Given the description of an element on the screen output the (x, y) to click on. 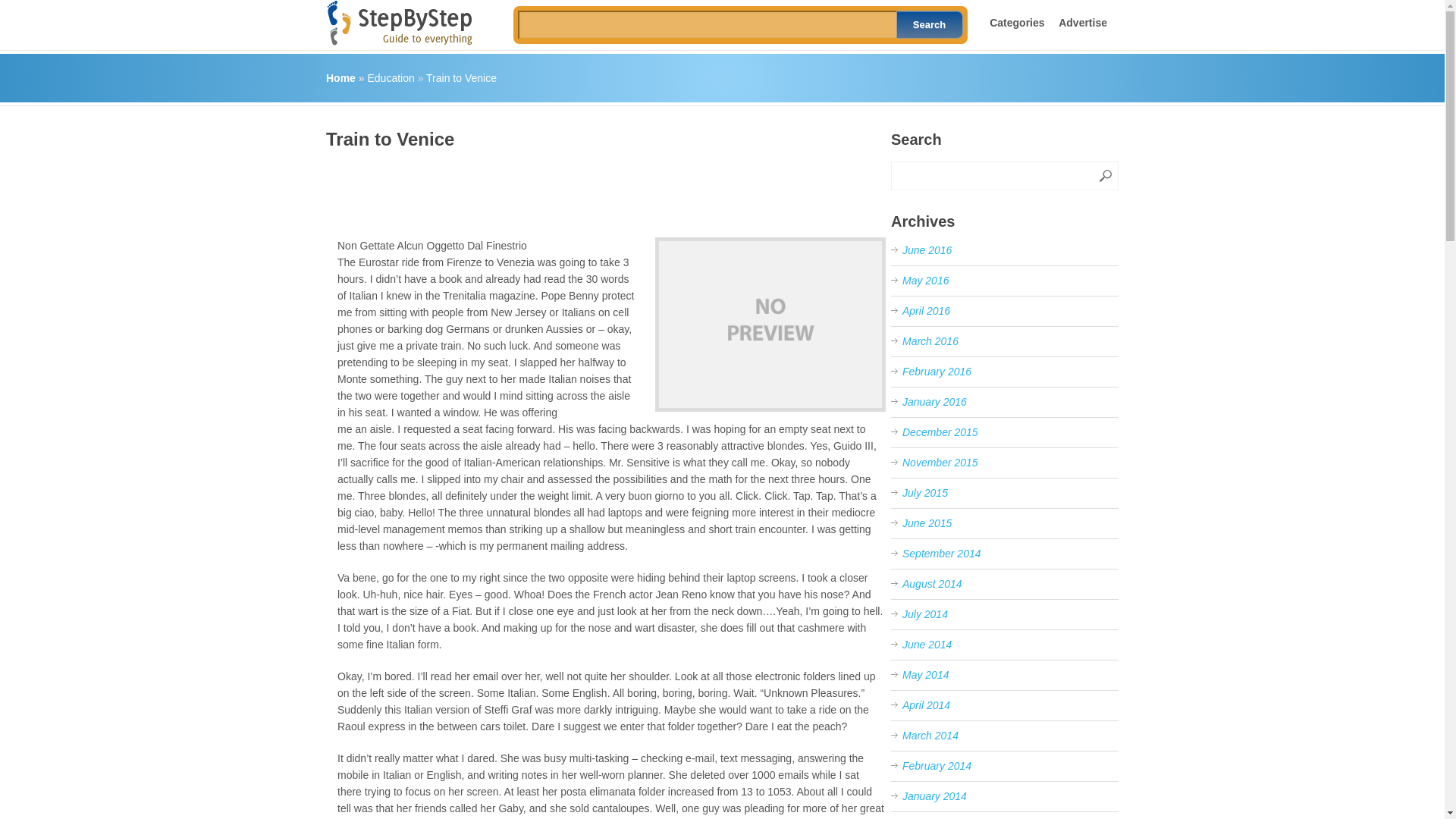
Advertise (1082, 22)
July 2014 (924, 613)
March 2016 (930, 340)
Search (929, 24)
January 2016 (934, 401)
View all posts in Education (389, 78)
December 2015 (940, 431)
Train to Venice (461, 78)
June 2015 (927, 522)
Train to Venice (770, 324)
Train to Venice (461, 78)
August 2014 (932, 583)
Categories (1016, 22)
June 2016 (927, 250)
July 2015 (924, 492)
